Given the description of an element on the screen output the (x, y) to click on. 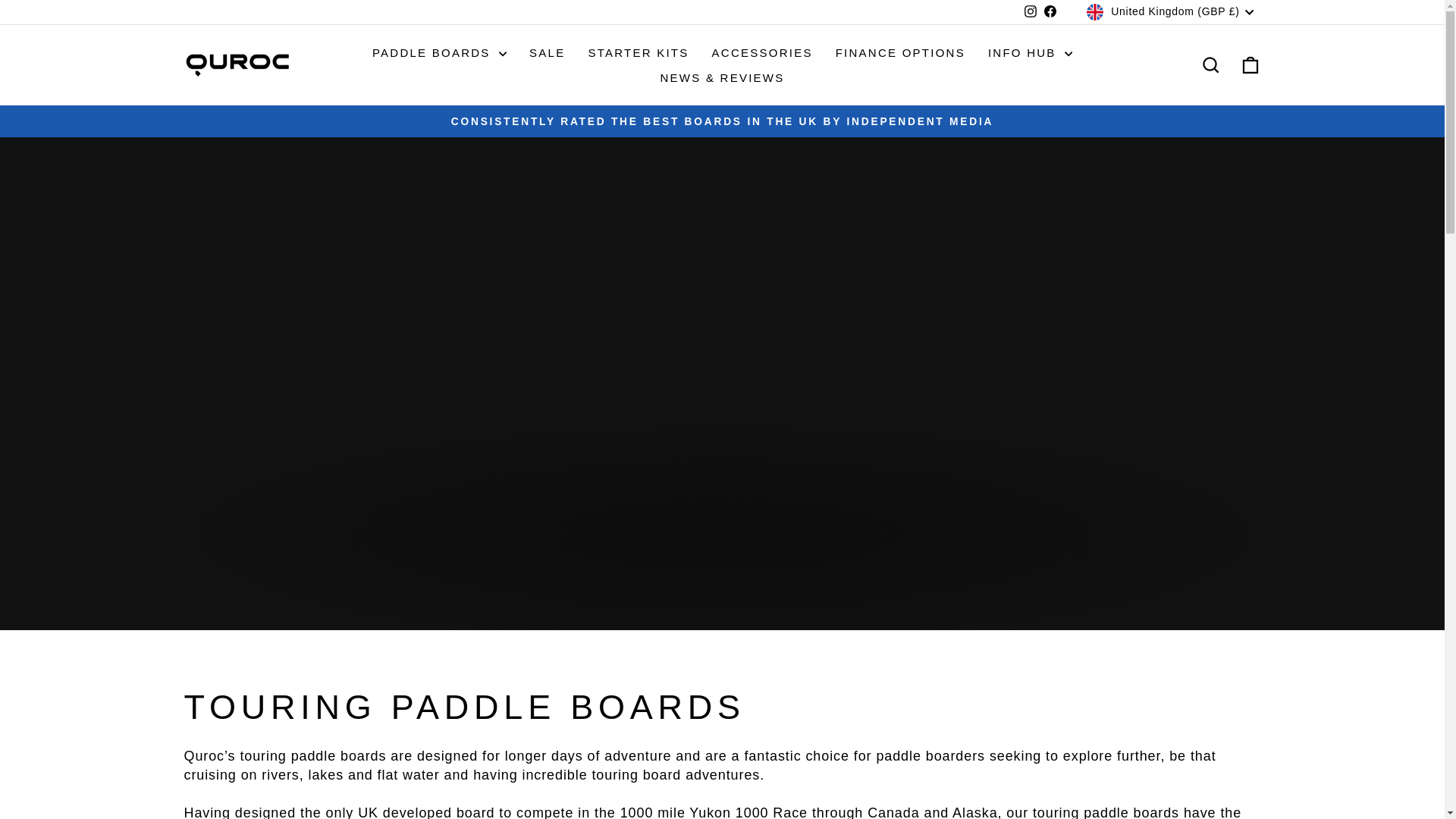
instagram (1030, 10)
ICON-SEARCH (1210, 65)
ICON-BAG-MINIMAL (1249, 65)
